Given the description of an element on the screen output the (x, y) to click on. 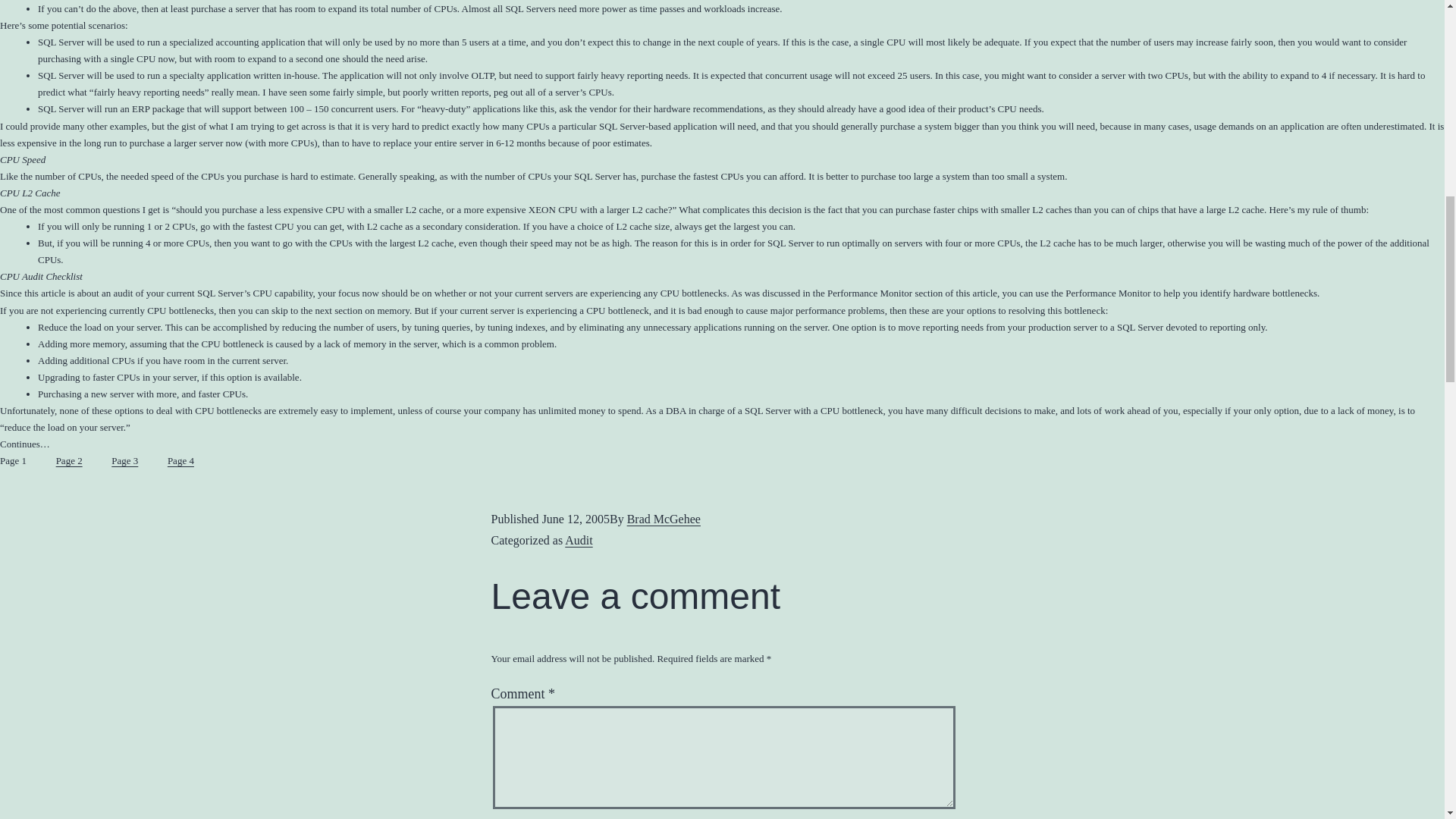
Page 3 (128, 469)
Page 4 (183, 469)
Page 2 (72, 469)
Audit (578, 540)
Brad McGehee (663, 518)
